Given the description of an element on the screen output the (x, y) to click on. 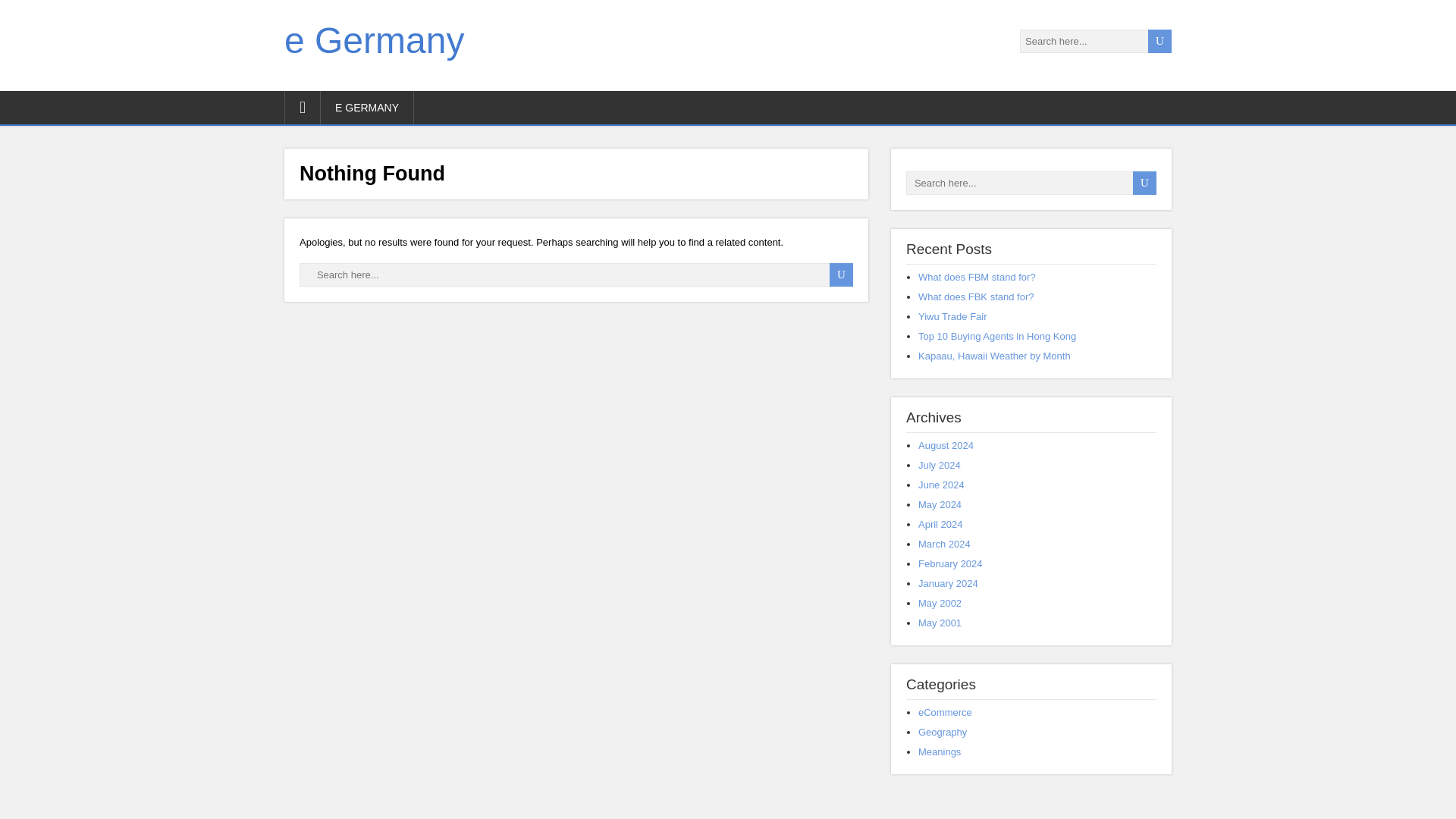
Kapaau, Hawaii Weather by Month (994, 355)
May 2001 (939, 622)
U (841, 274)
U (1160, 41)
U (841, 274)
April 2024 (940, 523)
U (1144, 182)
June 2024 (940, 484)
What does FBK stand for? (975, 296)
Meanings (939, 751)
